Given the description of an element on the screen output the (x, y) to click on. 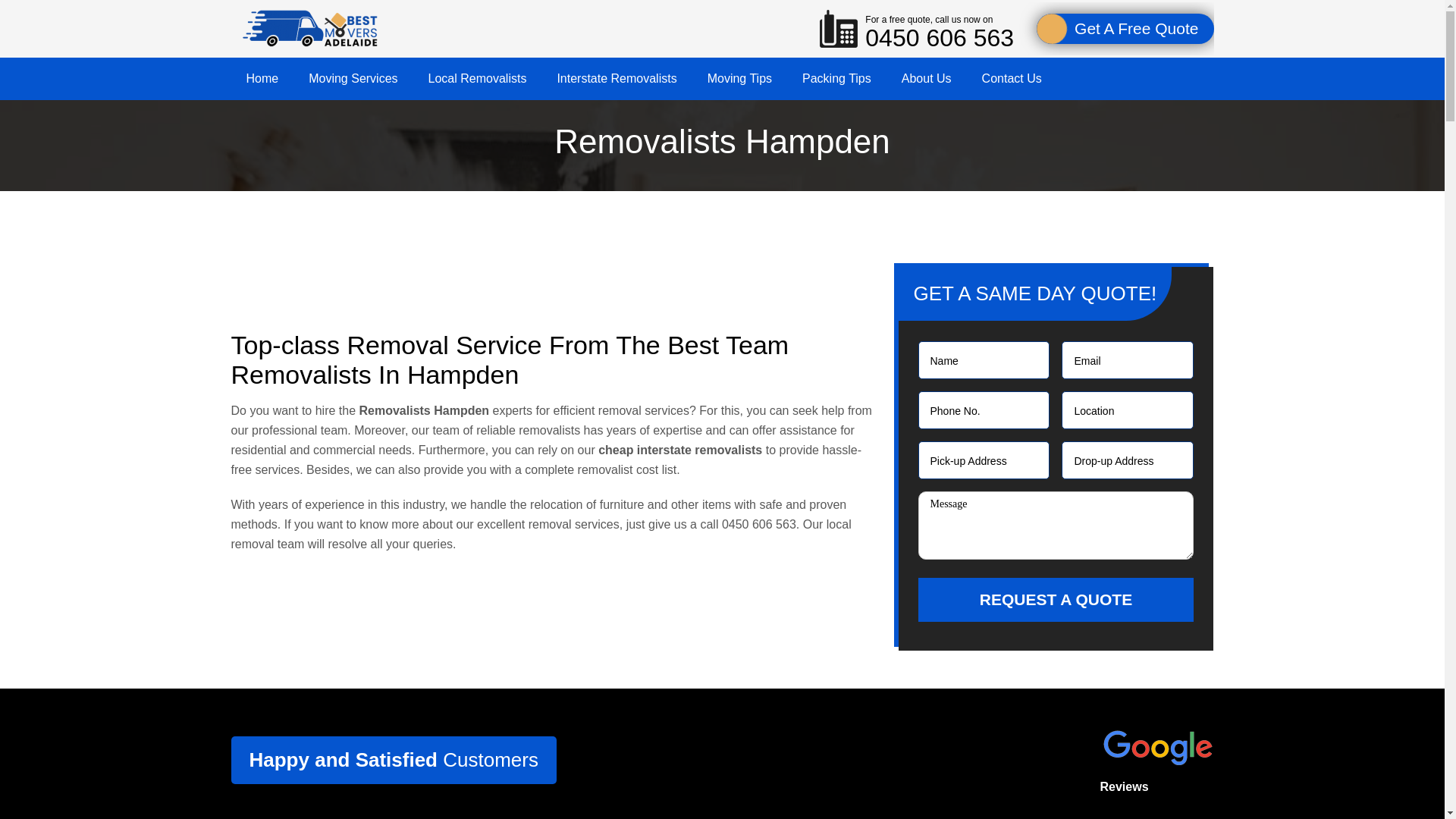
Moving Tips (740, 78)
Packing Tips (836, 78)
Get A Free Quote (1124, 28)
0450 606 563 (759, 522)
About Us (926, 78)
Local Removalists (477, 78)
Interstate Removalists (616, 78)
Contact Us (1011, 78)
Home (262, 78)
Moving Services (353, 78)
Request A Quote (1055, 599)
Request A Quote (1055, 599)
